Given the description of an element on the screen output the (x, y) to click on. 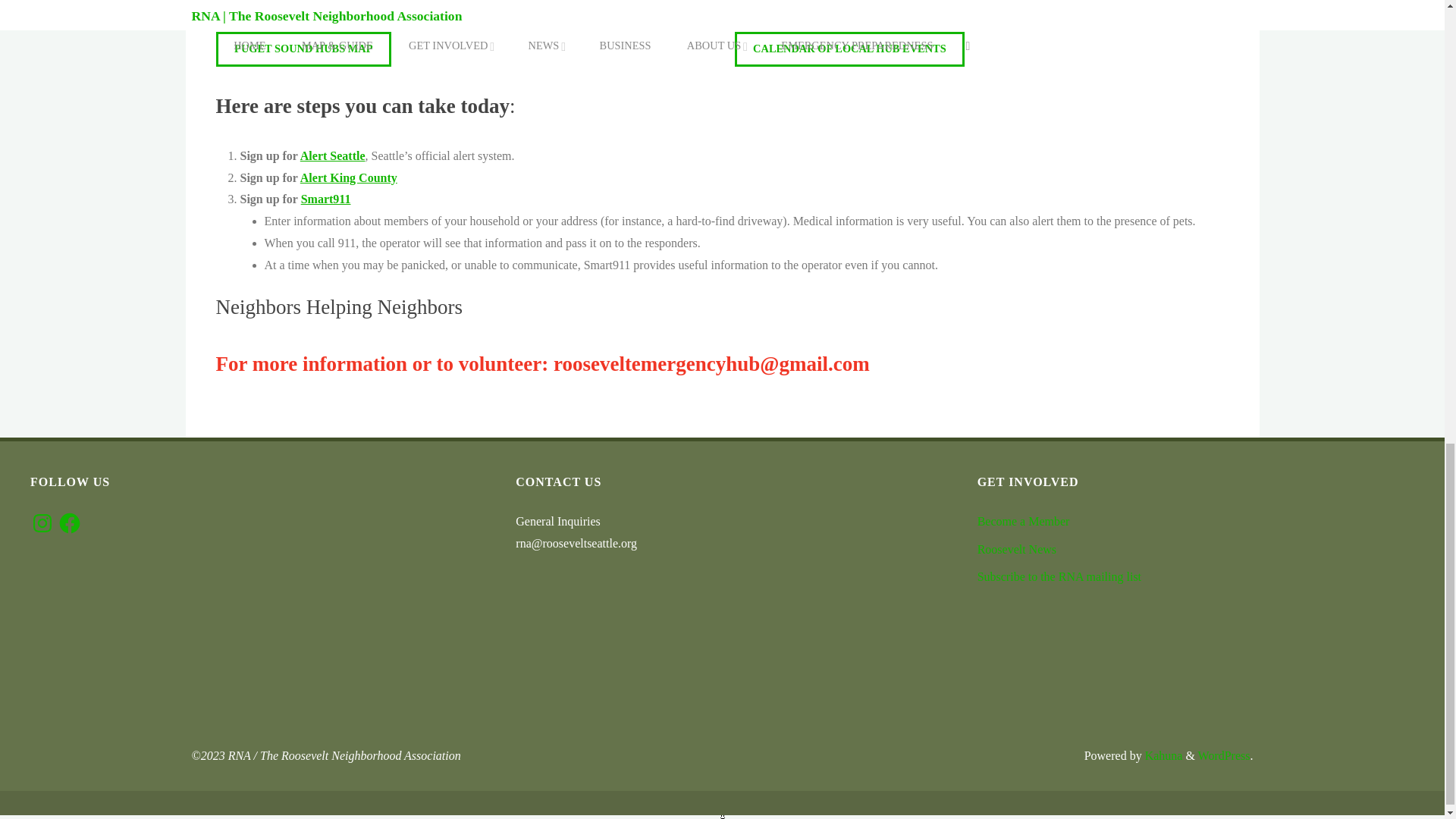
Kahuna WordPress Theme by Cryout Creations (1161, 755)
Semantic Personal Publishing Platform (1224, 755)
